Given the description of an element on the screen output the (x, y) to click on. 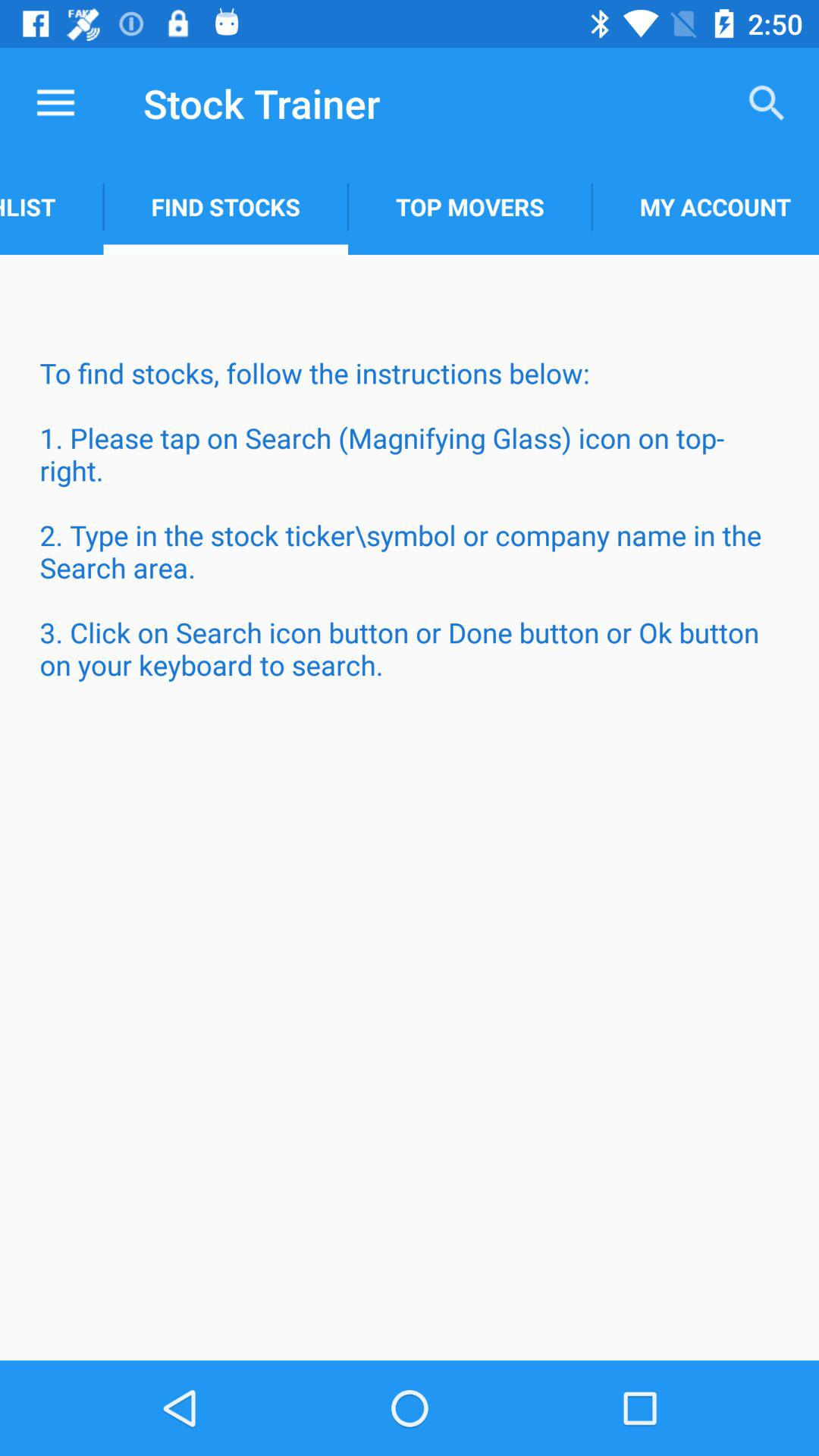
scroll to the top movers (470, 206)
